Given the description of an element on the screen output the (x, y) to click on. 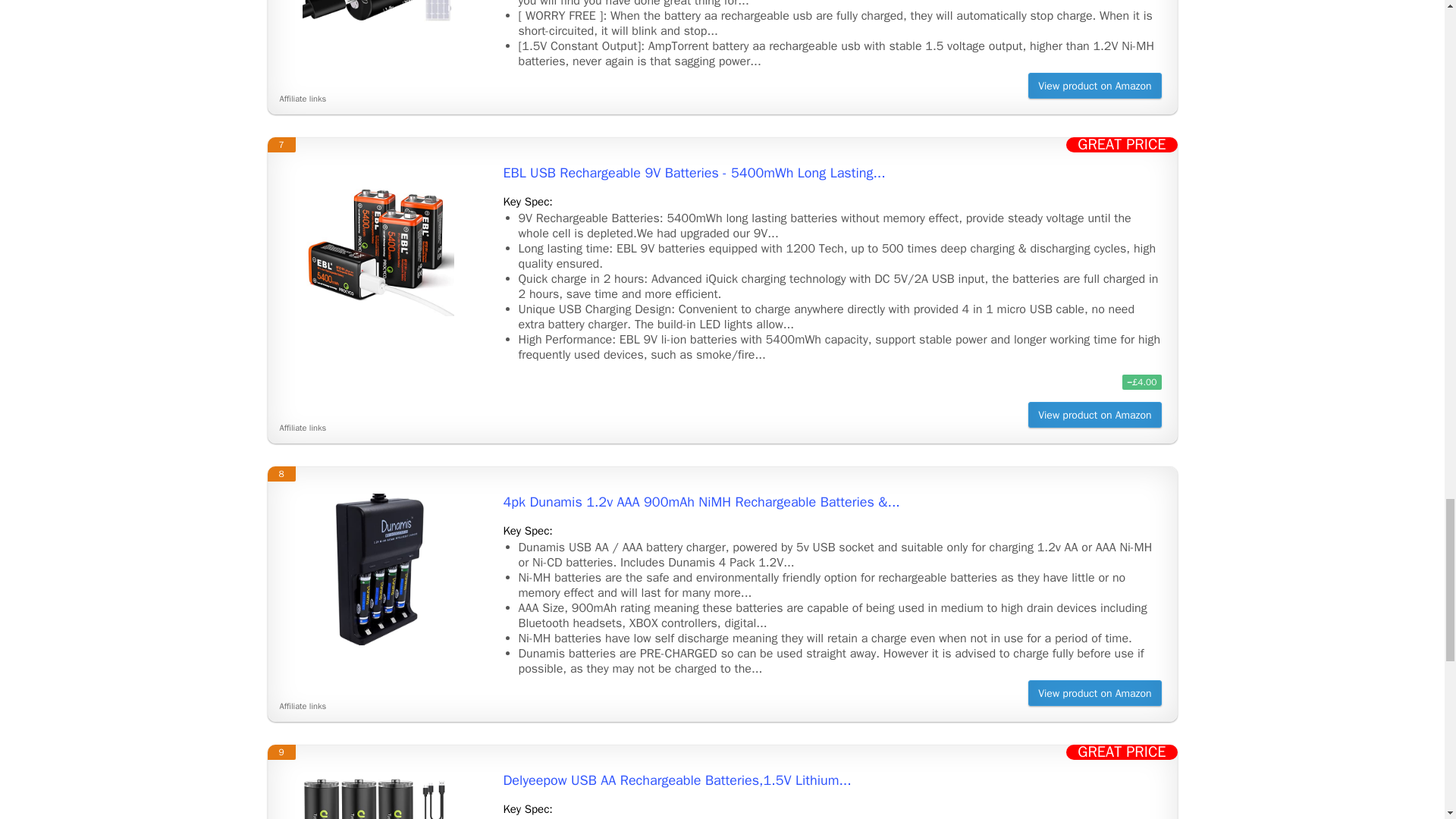
View product on Amazon (1093, 414)
View product on Amazon (1093, 692)
View product on Amazon (1093, 85)
